Given the description of an element on the screen output the (x, y) to click on. 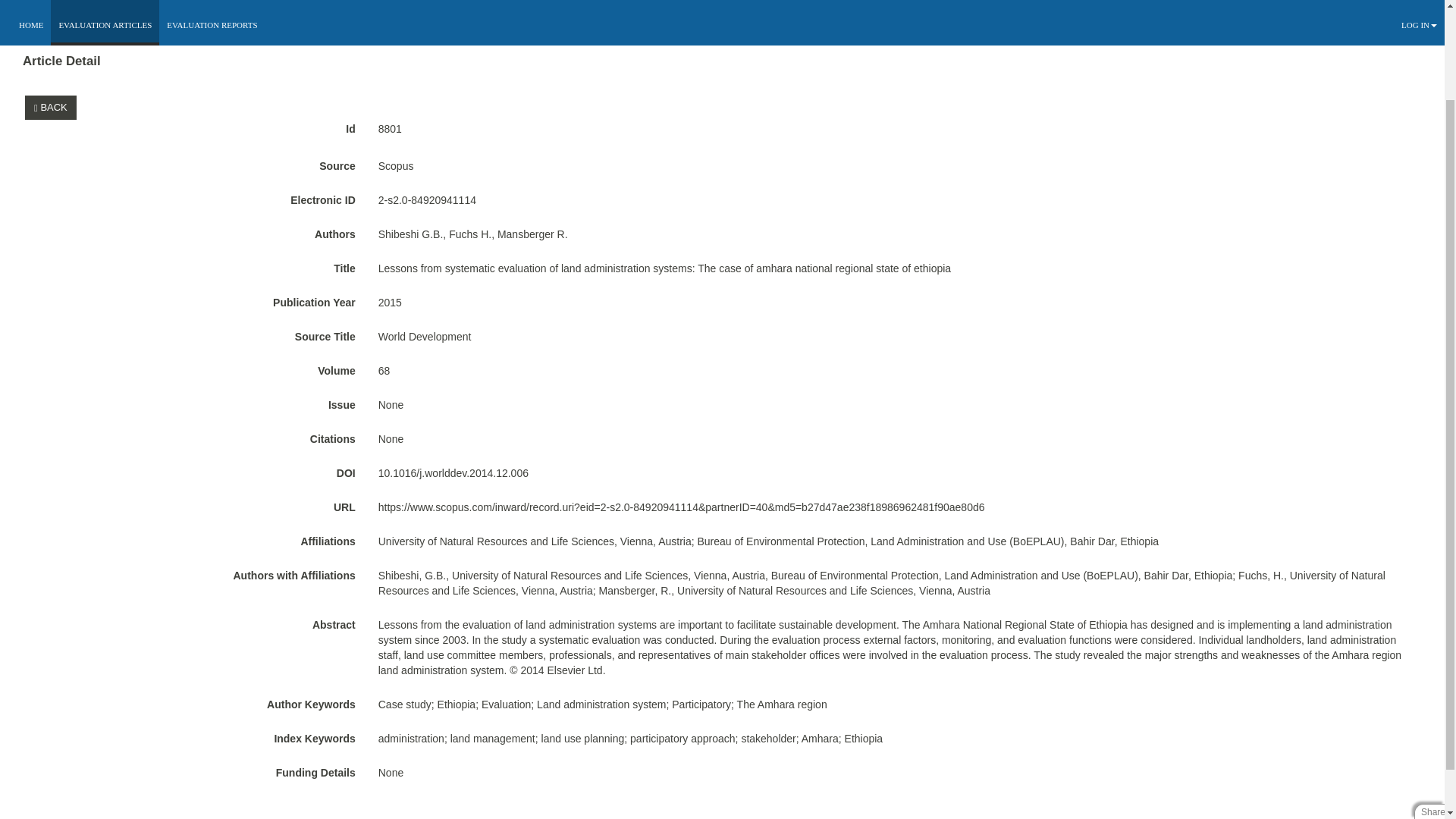
Back (53, 107)
BACK (50, 107)
